Given the description of an element on the screen output the (x, y) to click on. 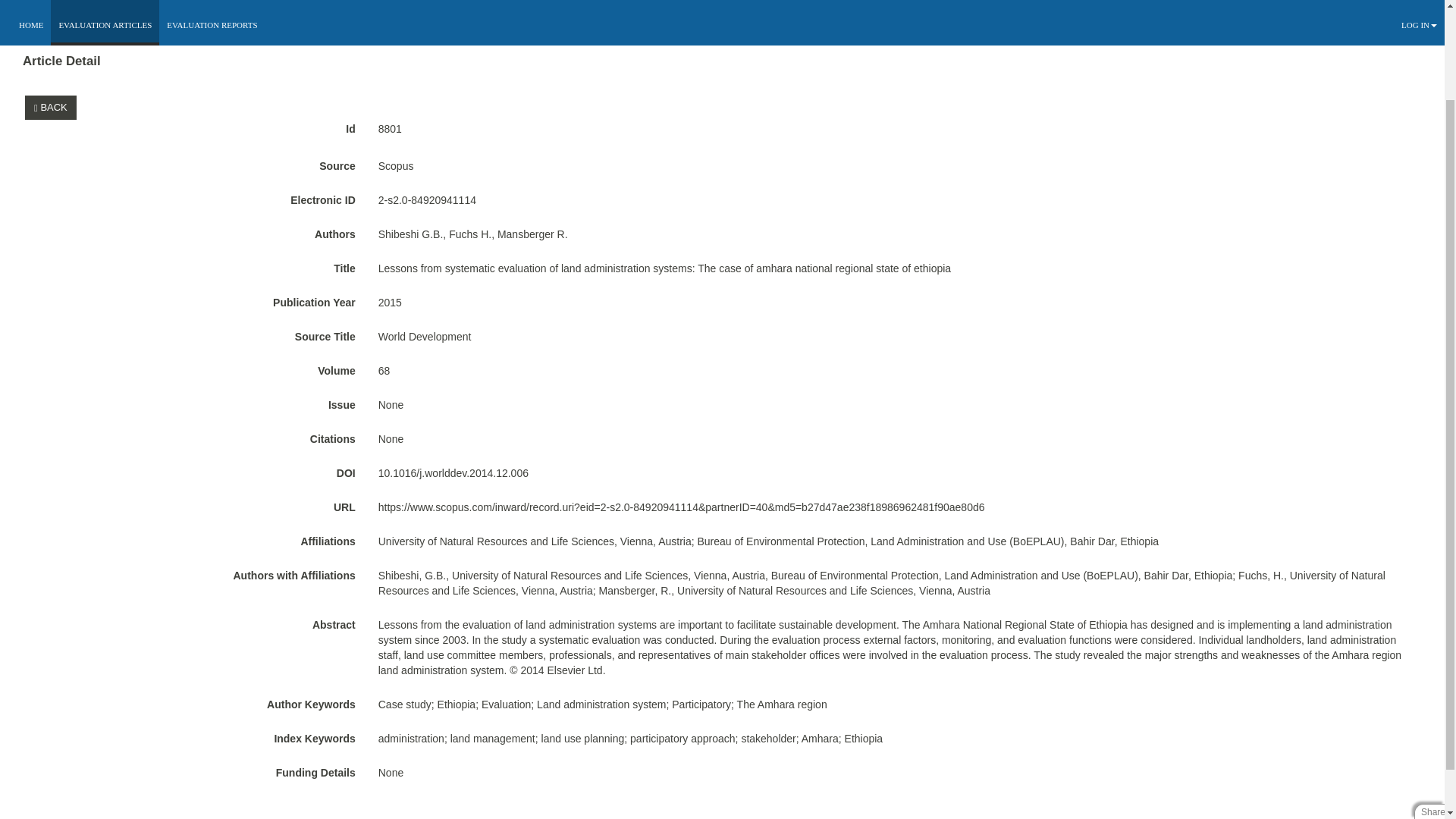
Back (53, 107)
BACK (50, 107)
